Given the description of an element on the screen output the (x, y) to click on. 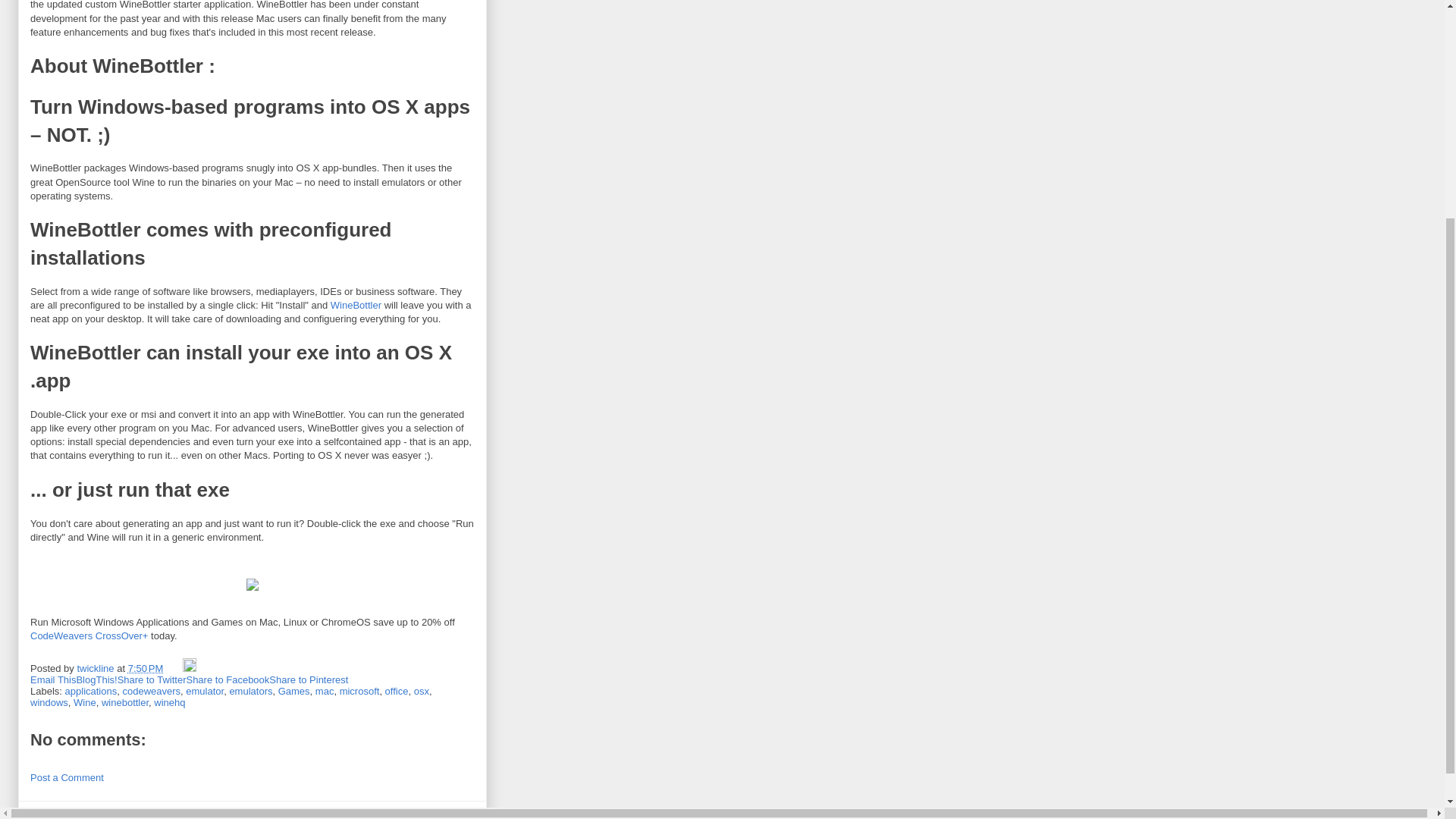
BlogThis! (95, 679)
Share to Pinterest (308, 679)
Share to Facebook (227, 679)
windows (49, 702)
microsoft (359, 690)
mac (324, 690)
Share to Facebook (227, 679)
Games (294, 690)
Email Post (174, 668)
Edit Post (189, 668)
